Given the description of an element on the screen output the (x, y) to click on. 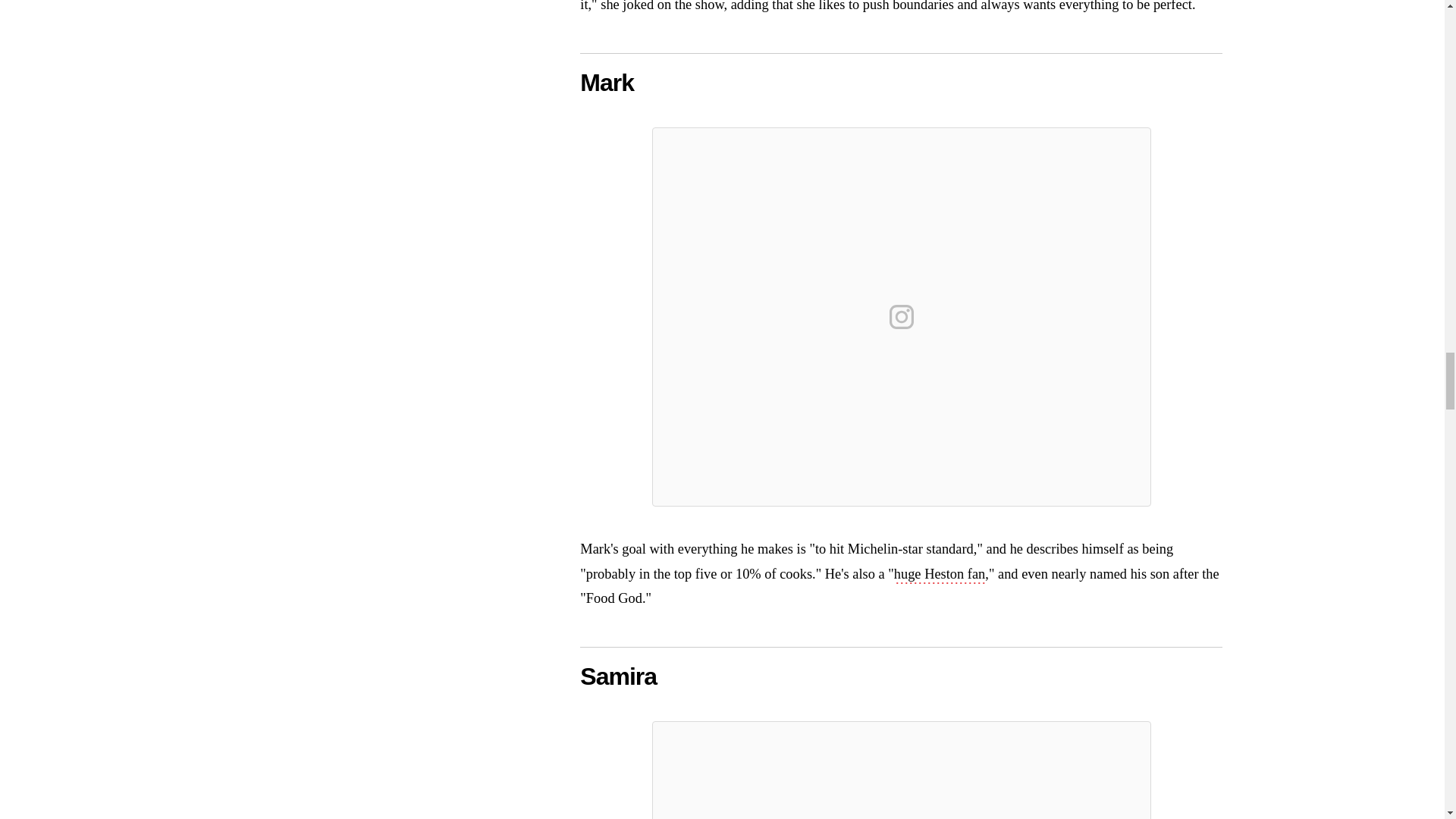
huge Heston fan (939, 575)
View on Instagram (901, 316)
